Given the description of an element on the screen output the (x, y) to click on. 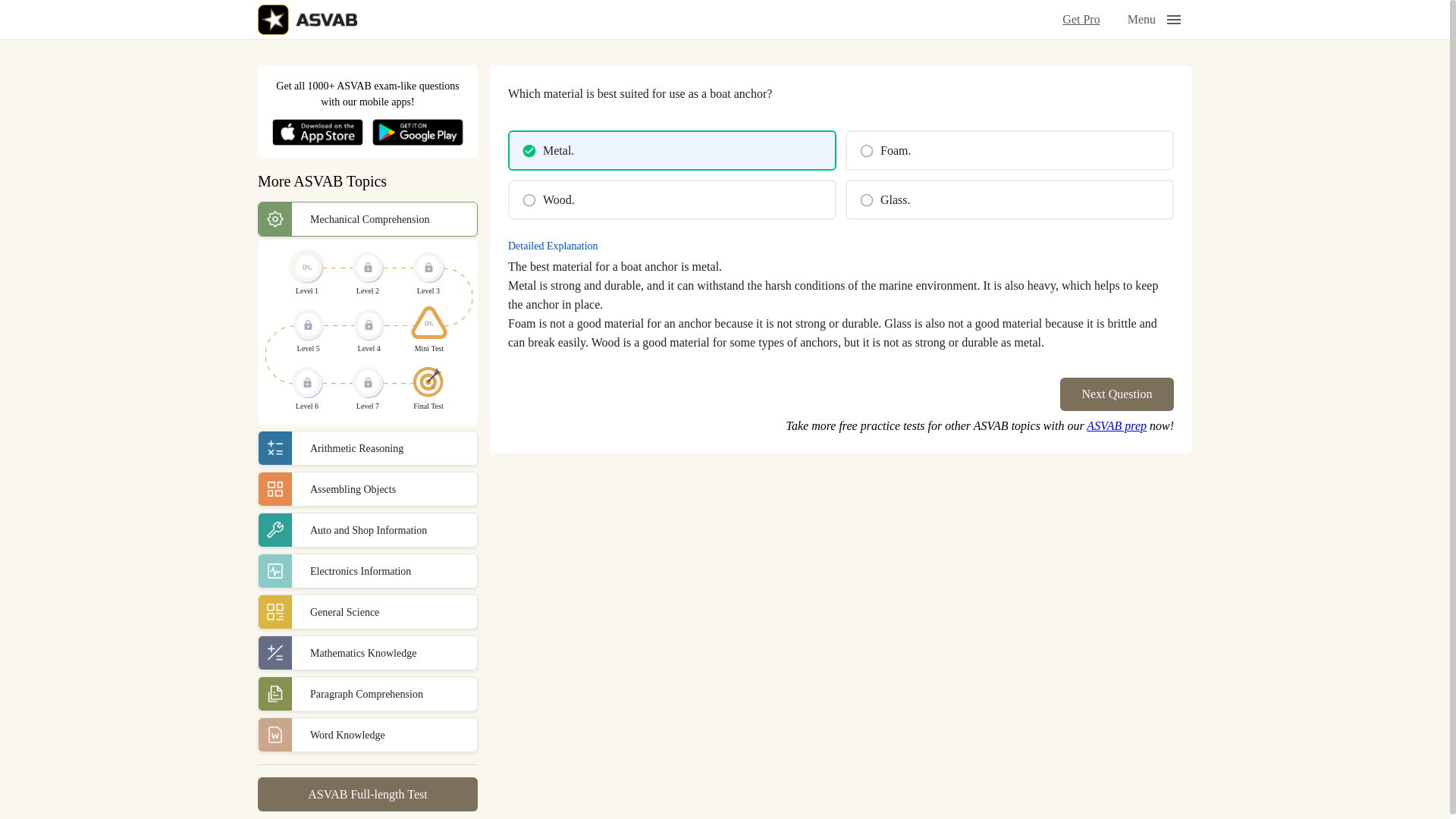
Arithmetic Reasoning (367, 448)
Get Pro (1085, 19)
Mathematics Knowledge (367, 652)
General Science (367, 611)
ASVAB Full-length Test (367, 794)
Auto and Shop Information (367, 529)
Paragraph Comprehension (367, 693)
Electronics Information (367, 570)
ASVAB prep (1116, 425)
Assembling Objects (367, 488)
